Given the description of an element on the screen output the (x, y) to click on. 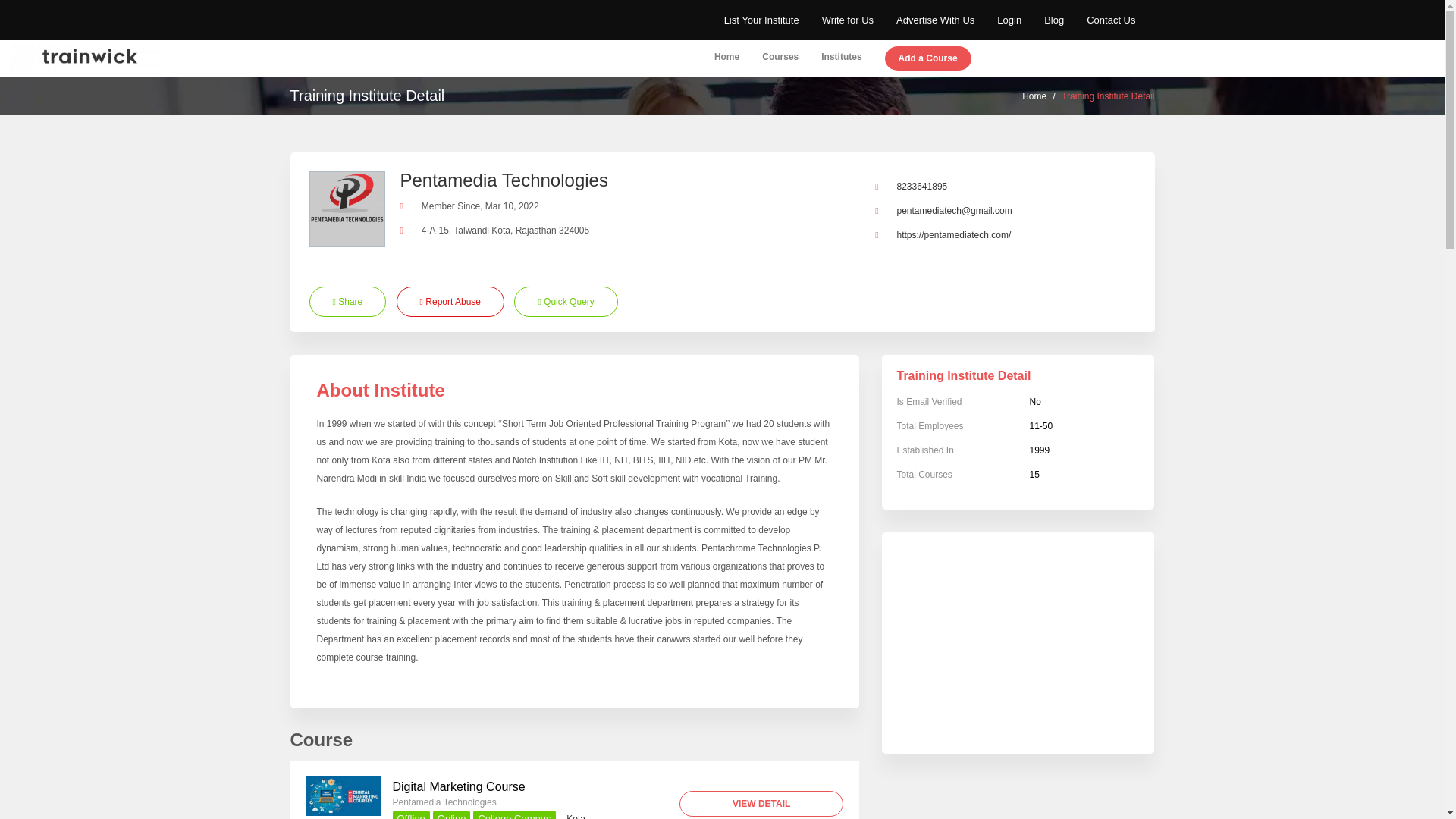
Digital Marketing Course (459, 786)
Digital Marketing Course (459, 786)
Pentamedia Technologies (444, 801)
College Campus (513, 814)
Institutes (841, 57)
8233641895 (921, 185)
Write for Us (847, 19)
List Your Institute (761, 19)
Courses (779, 57)
Online (451, 814)
Digital Marketing Course (342, 795)
Add a Course (928, 58)
Contact Us (1110, 19)
Home (1033, 95)
Share (347, 301)
